Given the description of an element on the screen output the (x, y) to click on. 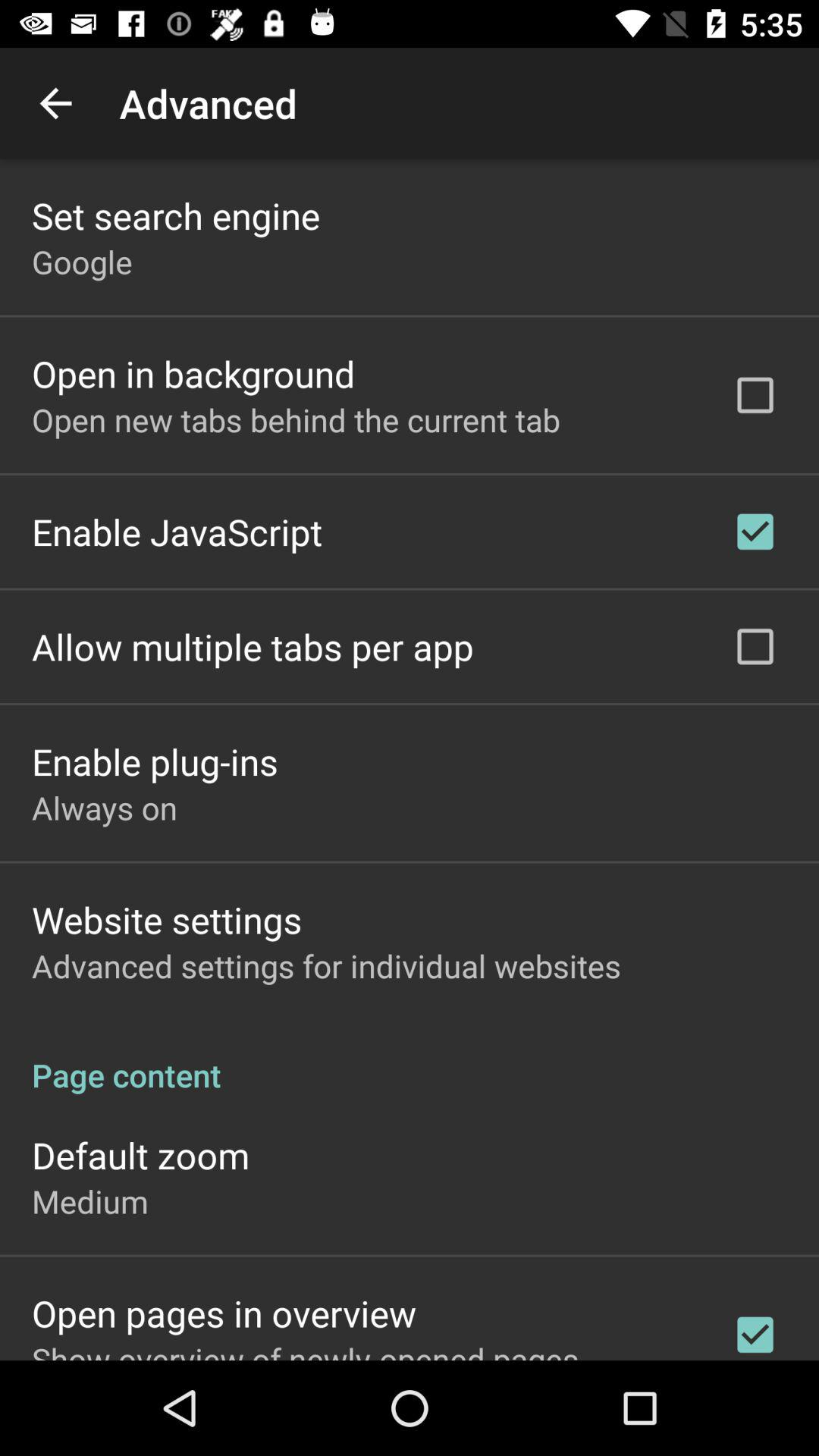
open the item above default zoom app (409, 1058)
